Given the description of an element on the screen output the (x, y) to click on. 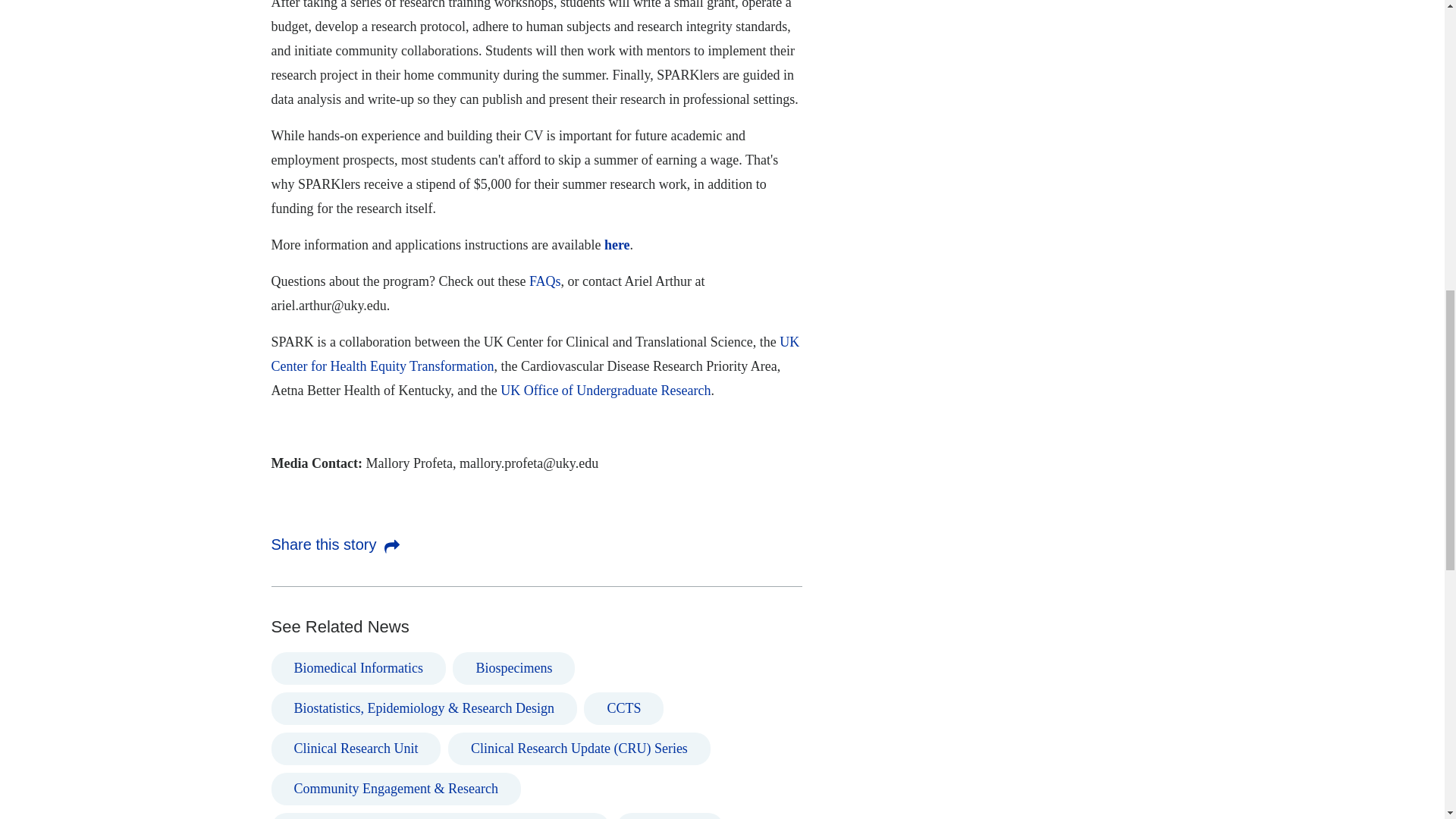
Clinical Research Unit (355, 748)
 UK Center for Health Equity Transformation (534, 353)
here (617, 244)
UK Office of Undergraduate Research (605, 390)
FAQs (544, 281)
2022 SPARK FAQs (544, 281)
Biomedical Informatics (357, 667)
CCTS (623, 708)
Biospecimens (513, 667)
Share this story (335, 544)
COVID-19 (669, 816)
